Given the description of an element on the screen output the (x, y) to click on. 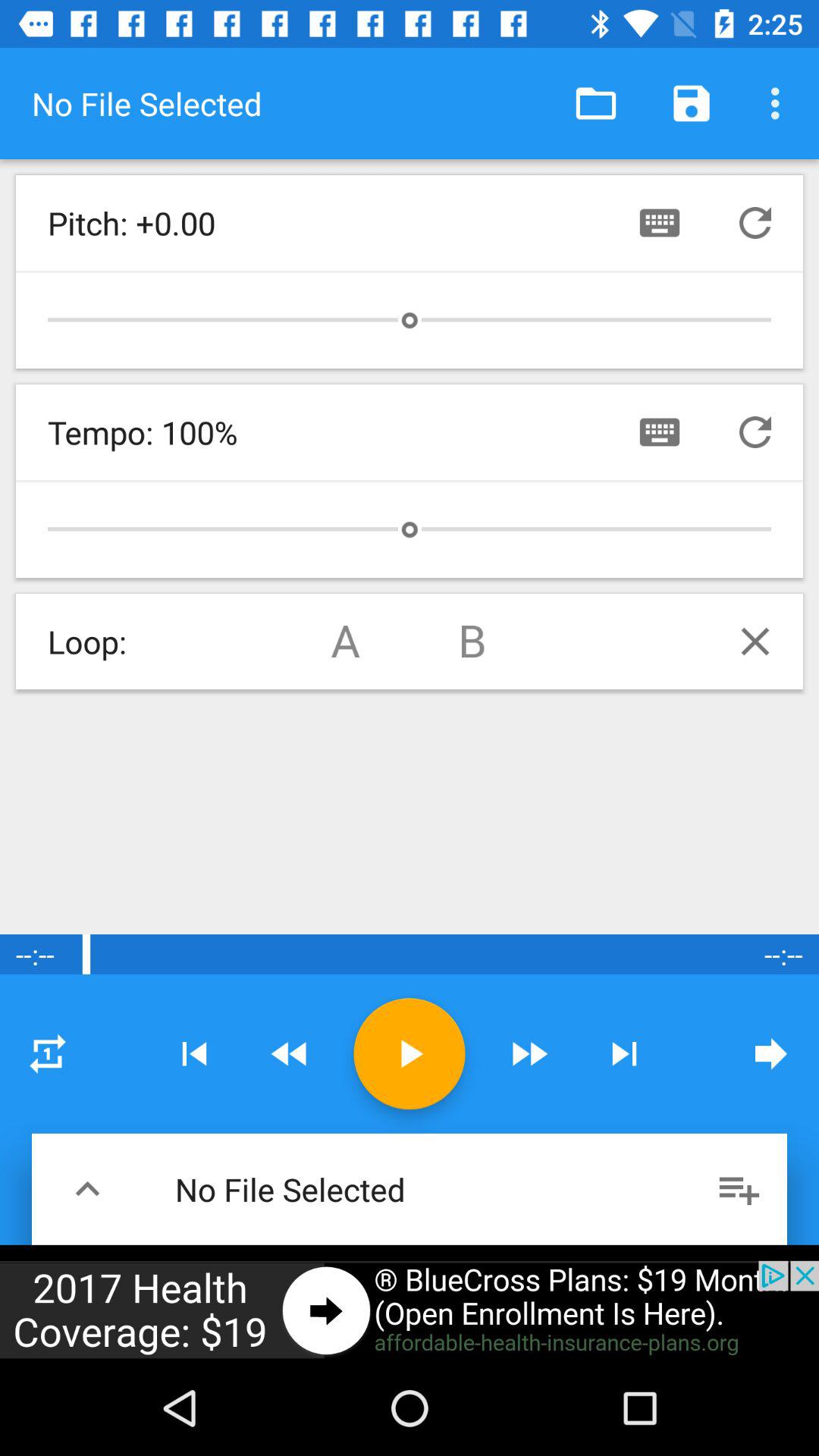
reset pitch (755, 222)
